Given the description of an element on the screen output the (x, y) to click on. 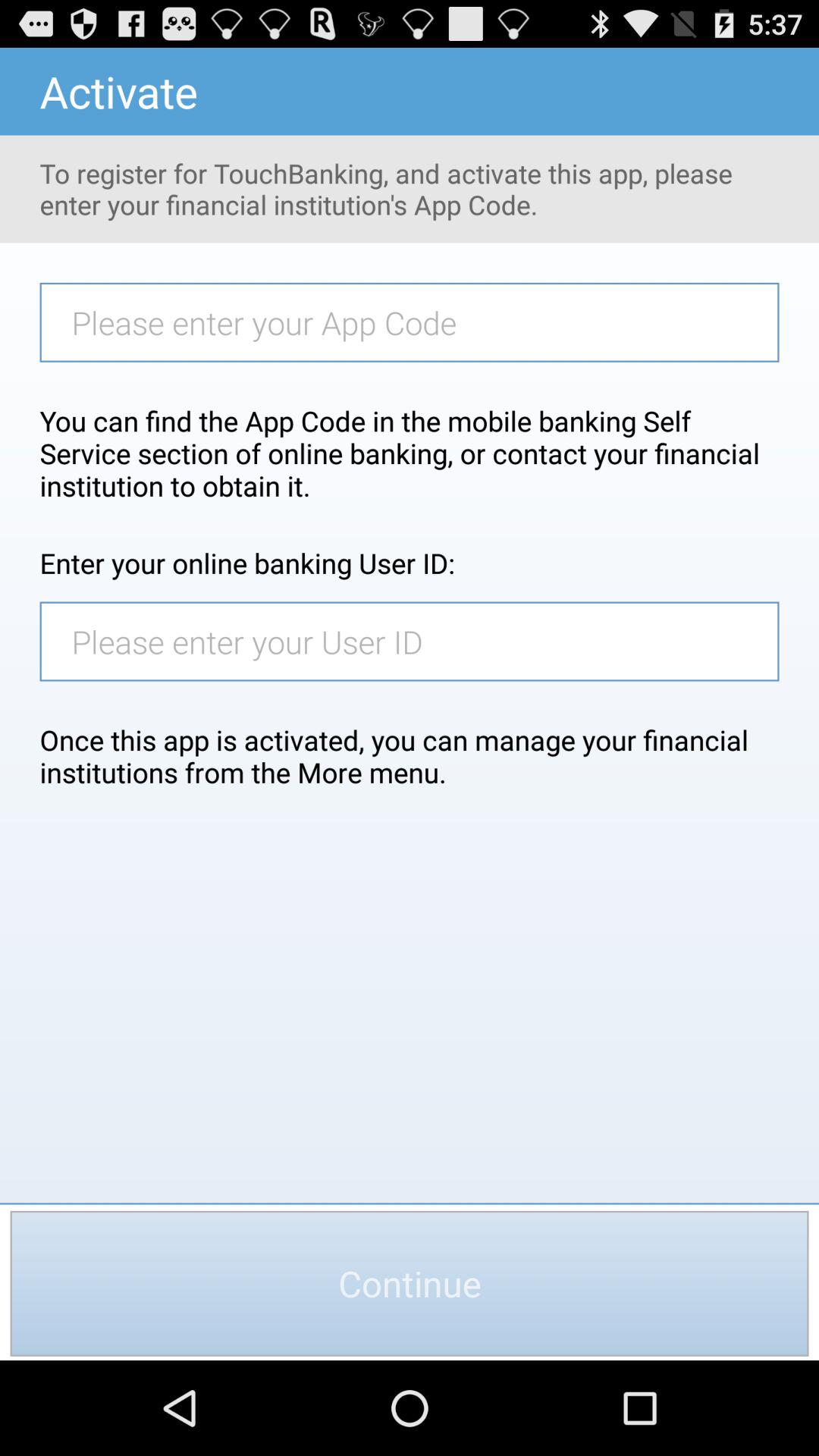
launch the continue at the bottom (409, 1283)
